Given the description of an element on the screen output the (x, y) to click on. 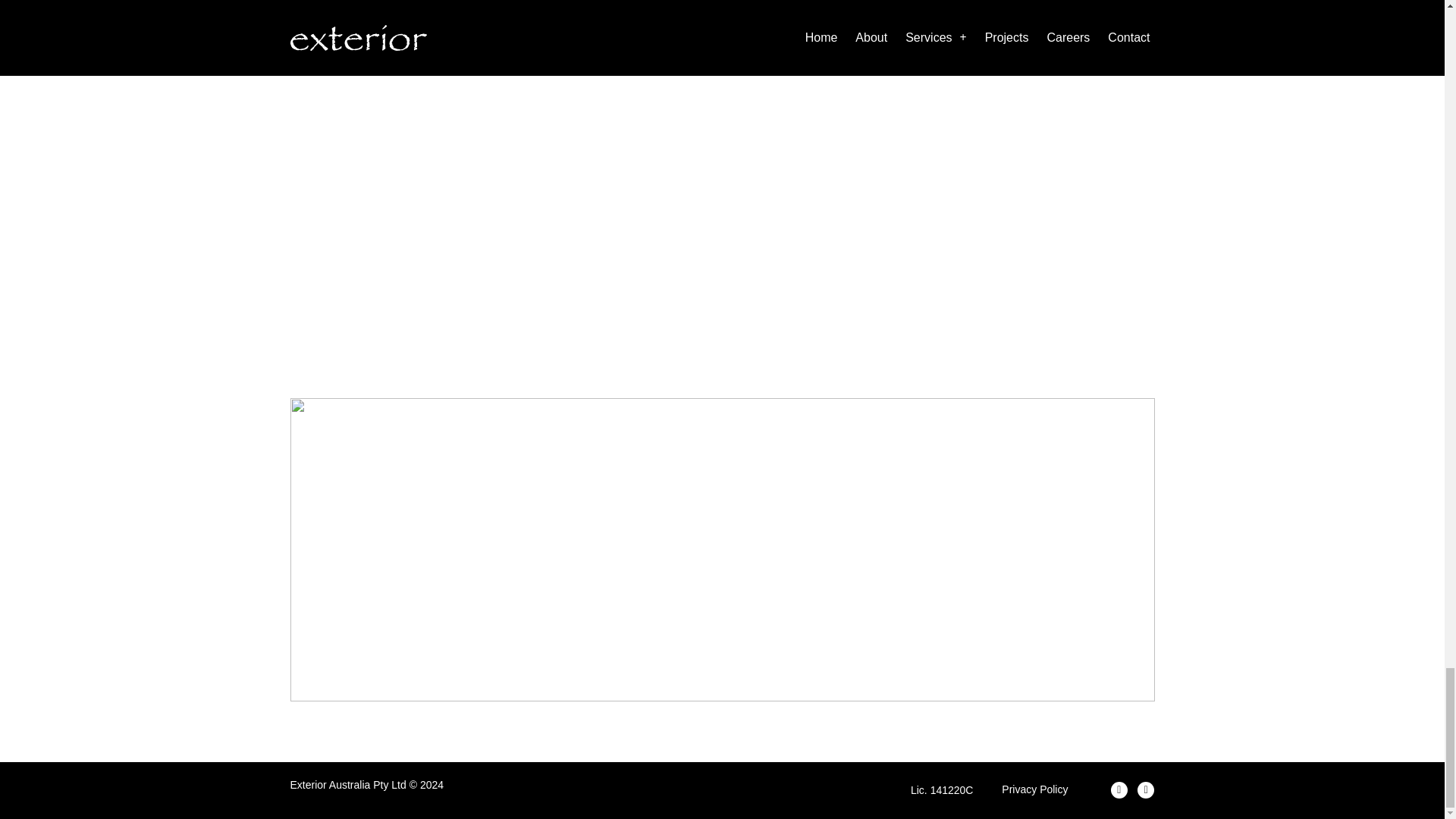
Privacy Policy (1034, 788)
